Given the description of an element on the screen output the (x, y) to click on. 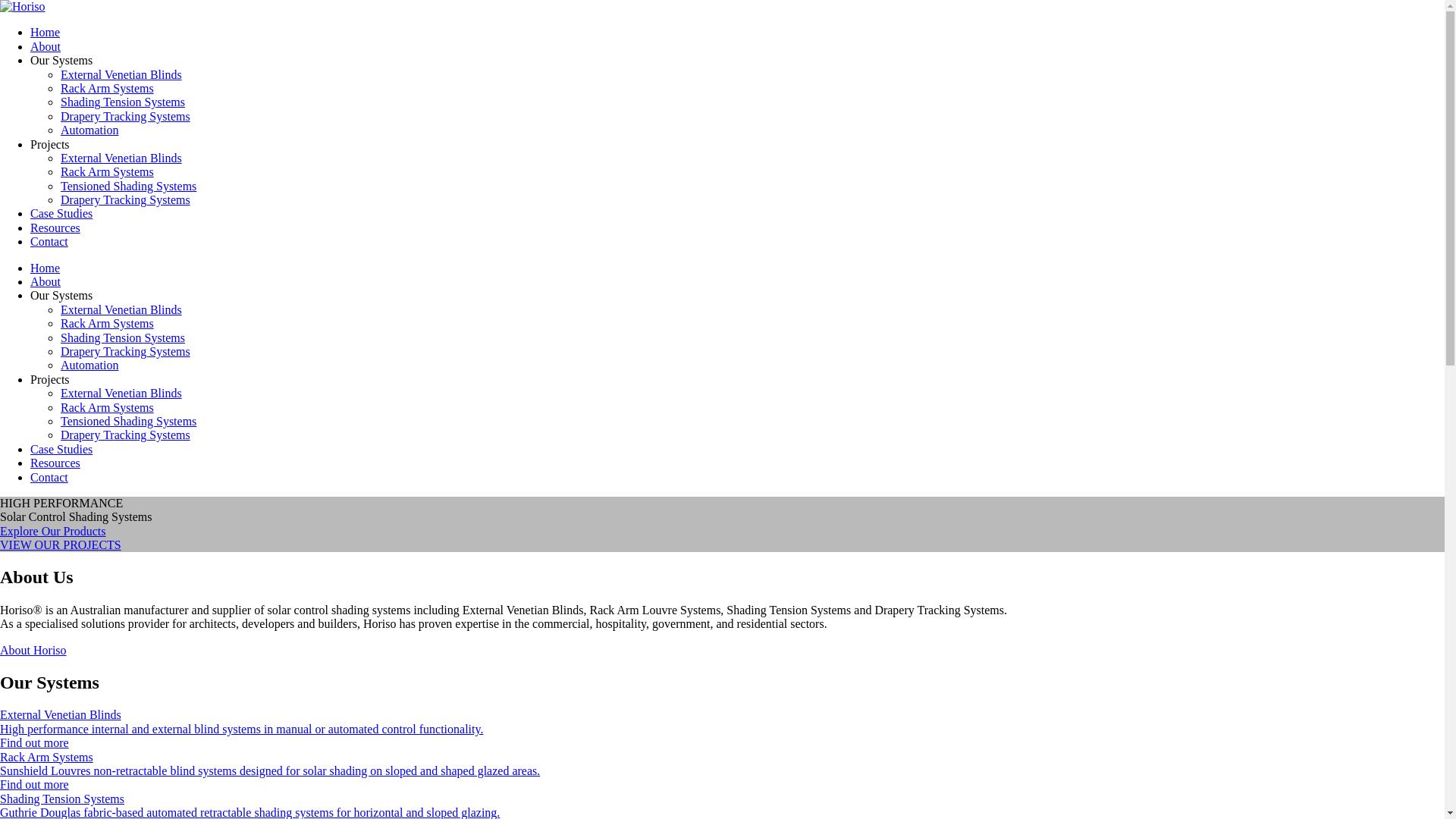
Shading Tension Systems Element type: text (122, 337)
Contact Element type: text (49, 241)
Case Studies Element type: text (61, 448)
Drapery Tracking Systems Element type: text (125, 115)
Our Systems Element type: text (61, 294)
Drapery Tracking Systems Element type: text (125, 351)
Automation Element type: text (89, 364)
Projects Element type: text (49, 379)
Shading Tension Systems Element type: text (122, 101)
Rack Arm Systems Element type: text (106, 171)
Rack Arm Systems Element type: text (106, 407)
About Element type: text (45, 46)
Explore Our Products Element type: text (722, 531)
External Venetian Blinds Element type: text (121, 74)
External Venetian Blinds Element type: text (121, 309)
External Venetian Blinds Element type: text (121, 392)
Automation Element type: text (89, 129)
External Venetian Blinds Element type: text (121, 157)
About Horiso Element type: text (33, 649)
Drapery Tracking Systems Element type: text (125, 199)
Resources Element type: text (55, 227)
Rack Arm Systems Element type: text (106, 87)
Case Studies Element type: text (61, 213)
Contact Element type: text (49, 476)
About Element type: text (45, 281)
Tensioned Shading Systems Element type: text (128, 420)
Drapery Tracking Systems Element type: text (125, 434)
Projects Element type: text (49, 144)
VIEW OUR PROJECTS Element type: text (722, 545)
Home Element type: text (44, 31)
Home Element type: text (44, 267)
Tensioned Shading Systems Element type: text (128, 185)
Resources Element type: text (55, 462)
Our Systems Element type: text (61, 59)
Rack Arm Systems Element type: text (106, 322)
